Given the description of an element on the screen output the (x, y) to click on. 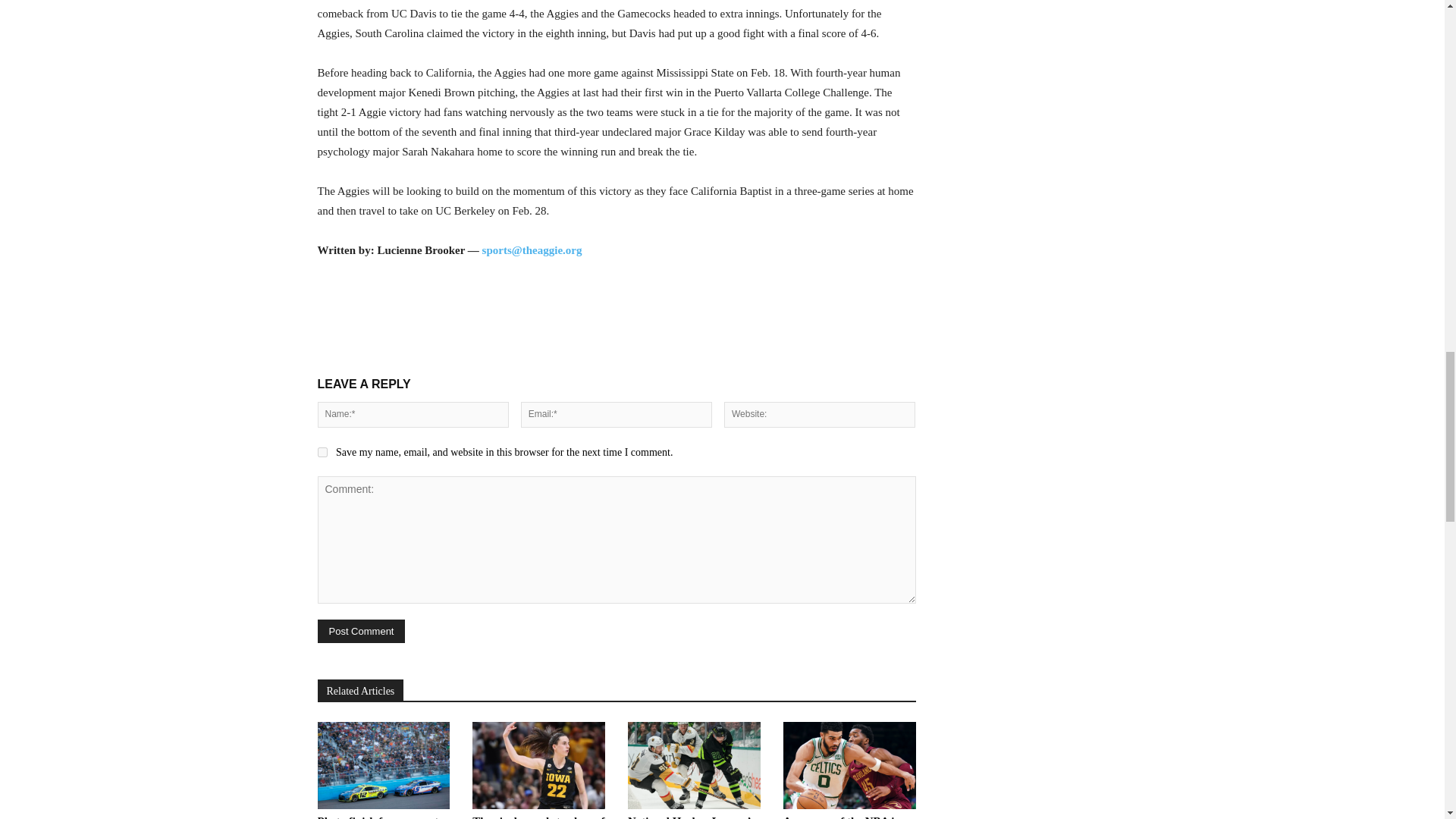
Post Comment (360, 630)
yes (321, 452)
